Given the description of an element on the screen output the (x, y) to click on. 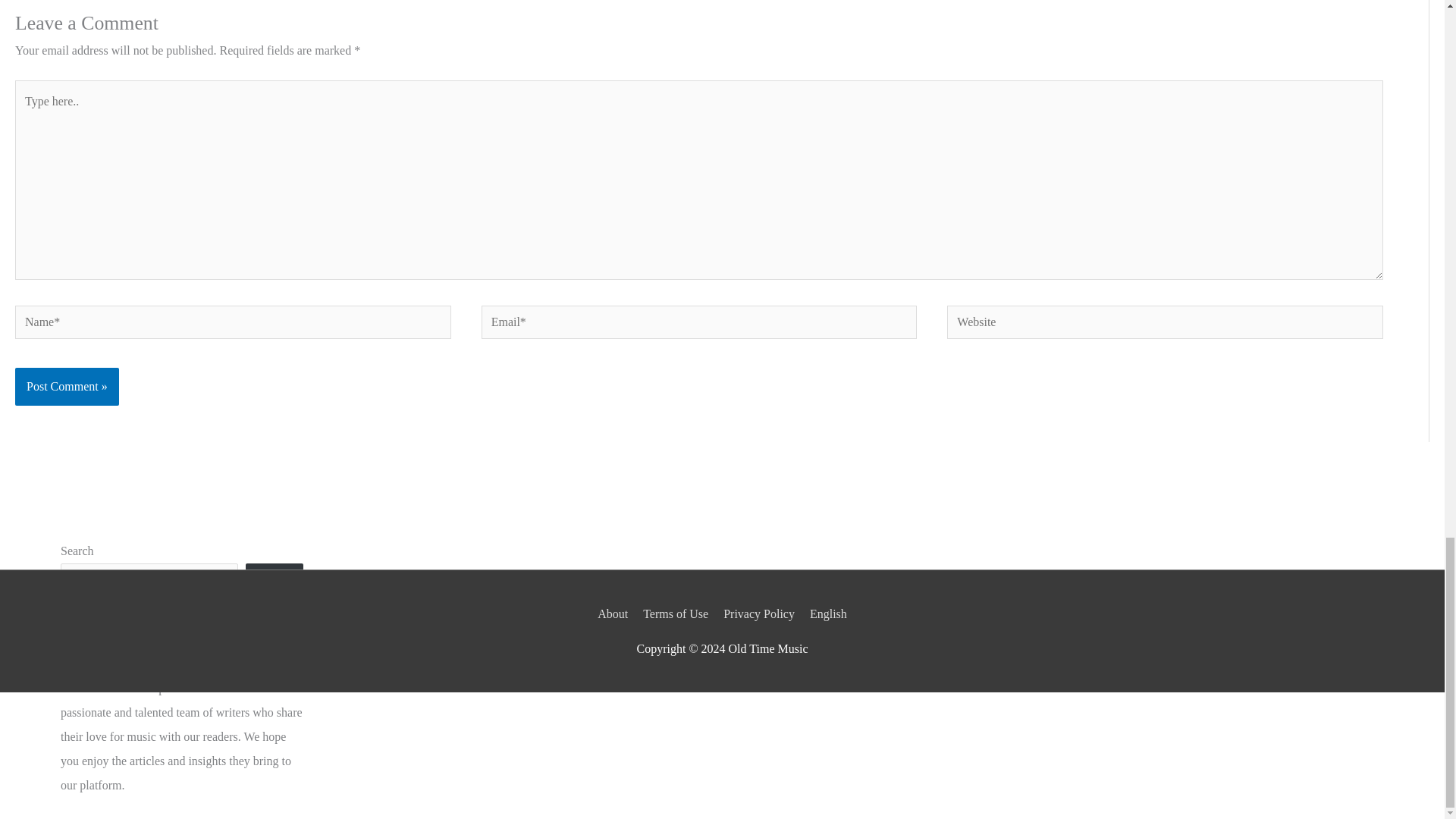
English (825, 613)
Search (274, 583)
Terms of Use (675, 613)
About (614, 613)
Privacy Policy (758, 613)
